Given the description of an element on the screen output the (x, y) to click on. 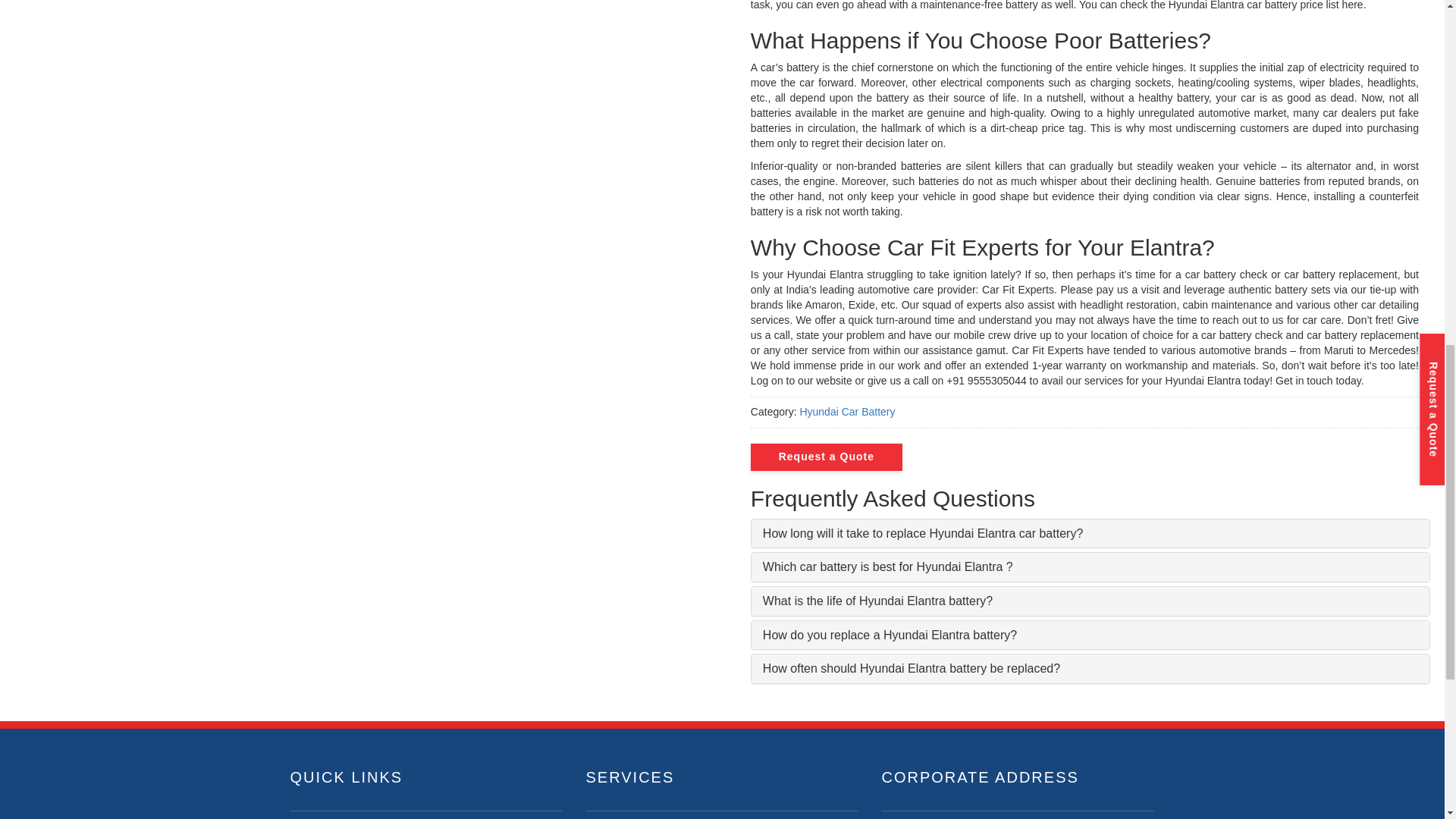
elantra (354, 29)
